Given the description of an element on the screen output the (x, y) to click on. 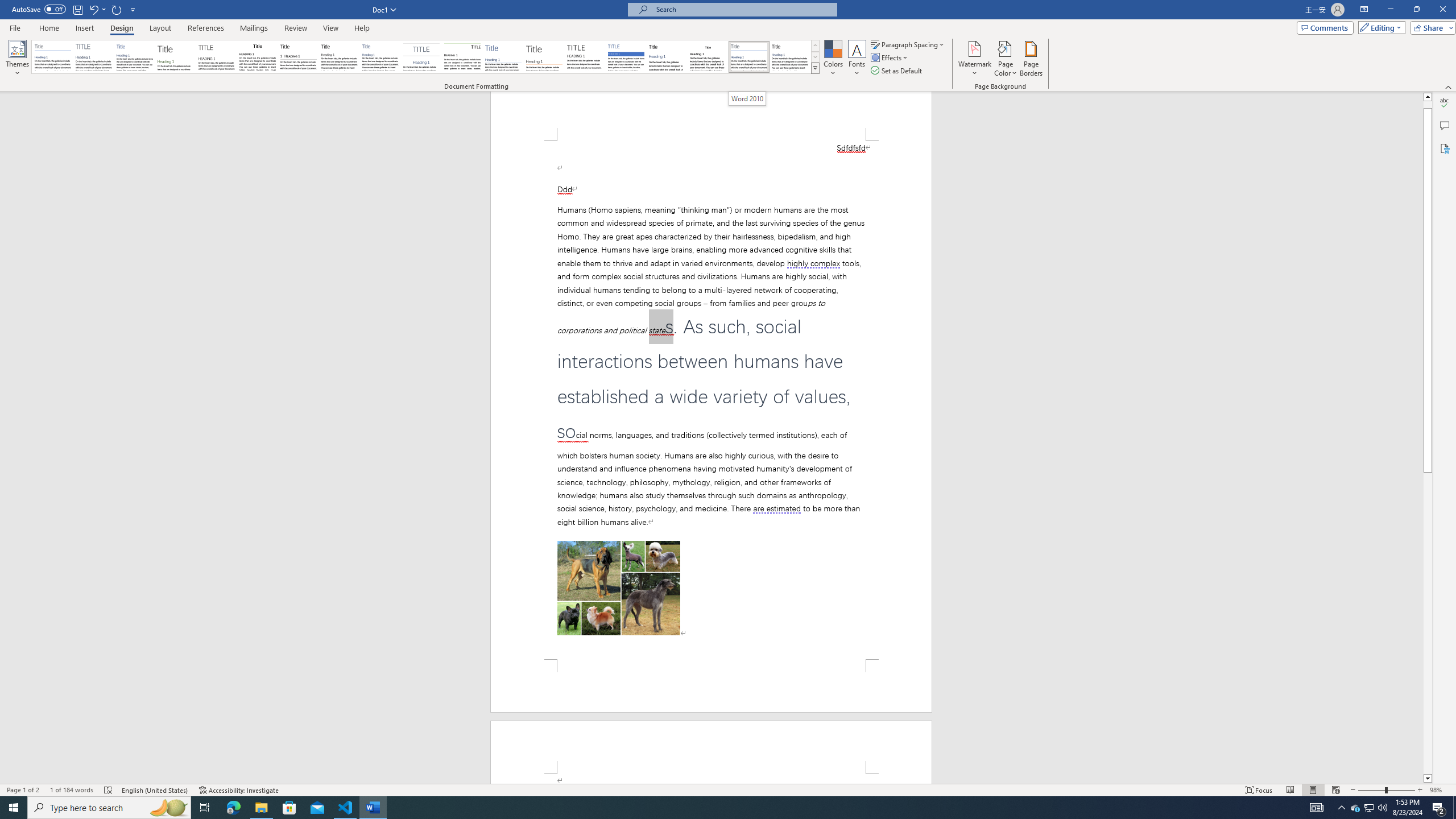
Lines (Stylish) (544, 56)
Word 2003 (707, 56)
Page Color (1005, 58)
Word 2010 (746, 98)
Basic (Simple) (135, 56)
Paragraph Spacing (908, 44)
